Given the description of an element on the screen output the (x, y) to click on. 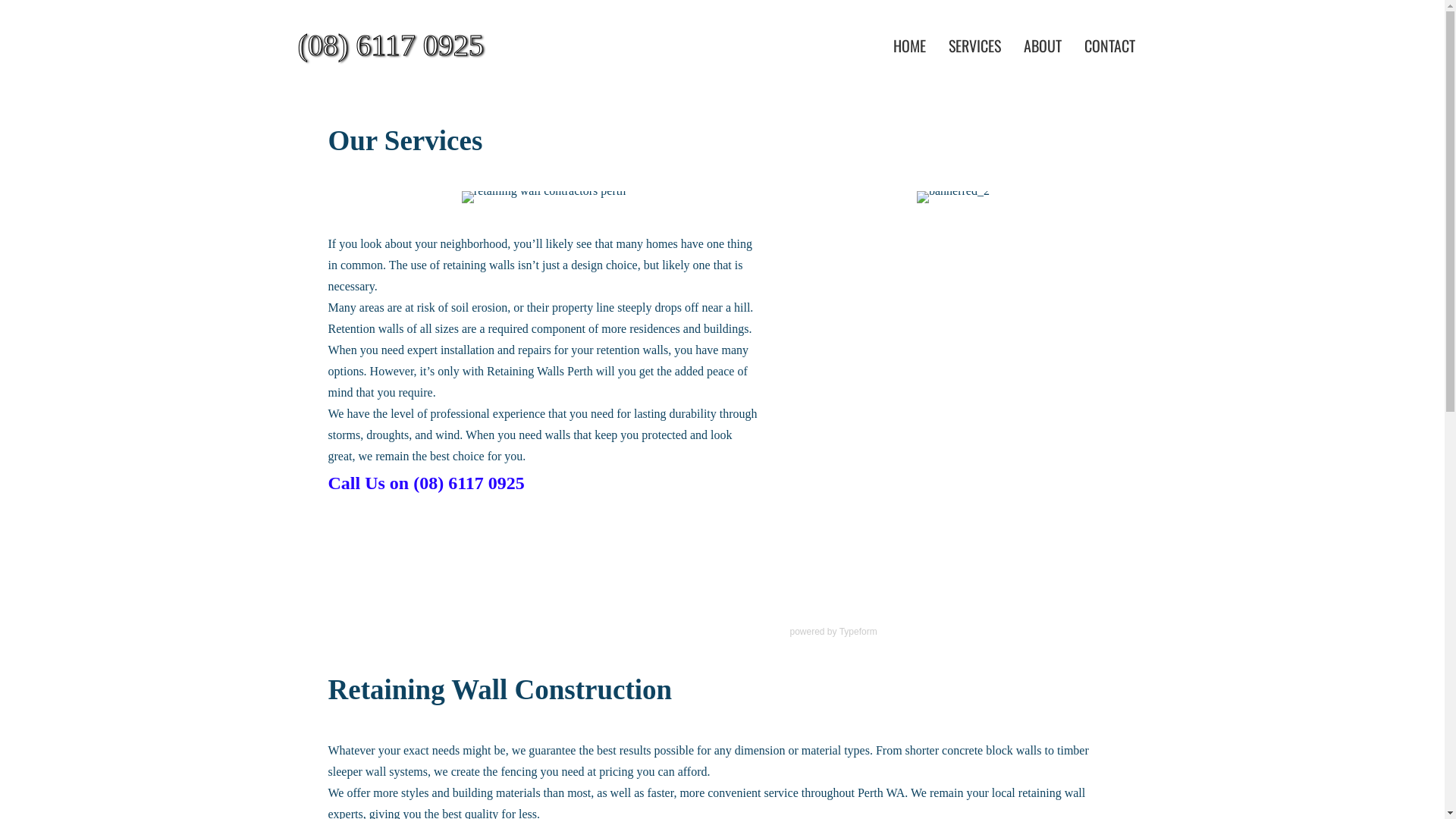
typeform-embed Element type: hover (953, 422)
(08) 6117 0925 Element type: text (432, 45)
retaining wall contractors perth Element type: hover (543, 197)
Call Us on (08) 6117 0925 Element type: text (425, 484)
bannerred_2 Element type: hover (952, 197)
CONTACT Element type: text (1109, 45)
Typeform Element type: text (858, 631)
ABOUT Element type: text (1042, 45)
HOME Element type: text (909, 45)
SERVICES Element type: text (974, 45)
